Given the description of an element on the screen output the (x, y) to click on. 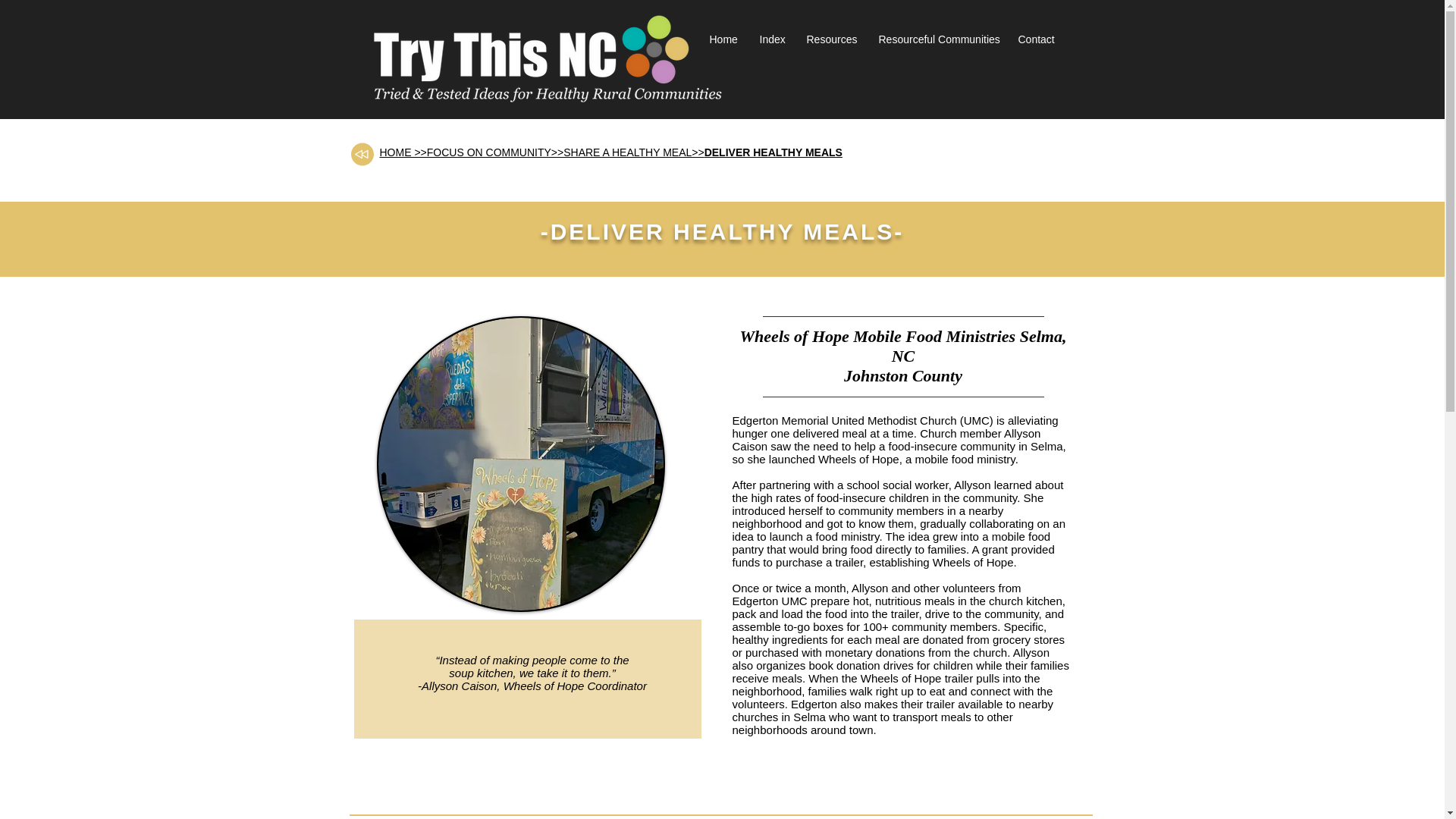
Home (721, 38)
Contact (1035, 38)
Resourceful Communities (936, 38)
Resources (830, 38)
Index (770, 38)
